Given the description of an element on the screen output the (x, y) to click on. 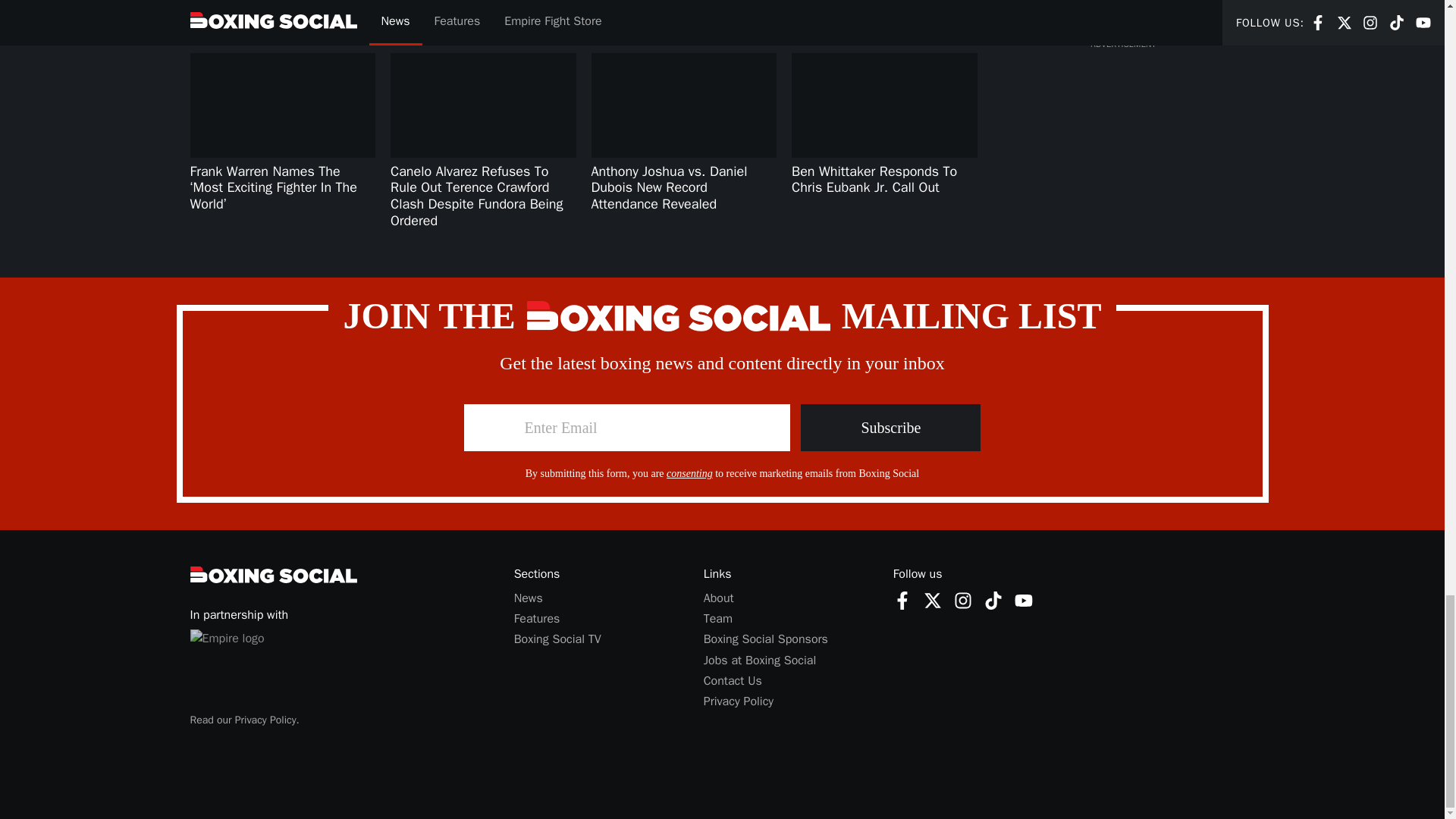
consenting (689, 473)
X (932, 599)
About (932, 600)
Facebook (718, 598)
YouTube (902, 600)
Boxing Social Sponsors (902, 599)
TikTok (1023, 600)
